Given the description of an element on the screen output the (x, y) to click on. 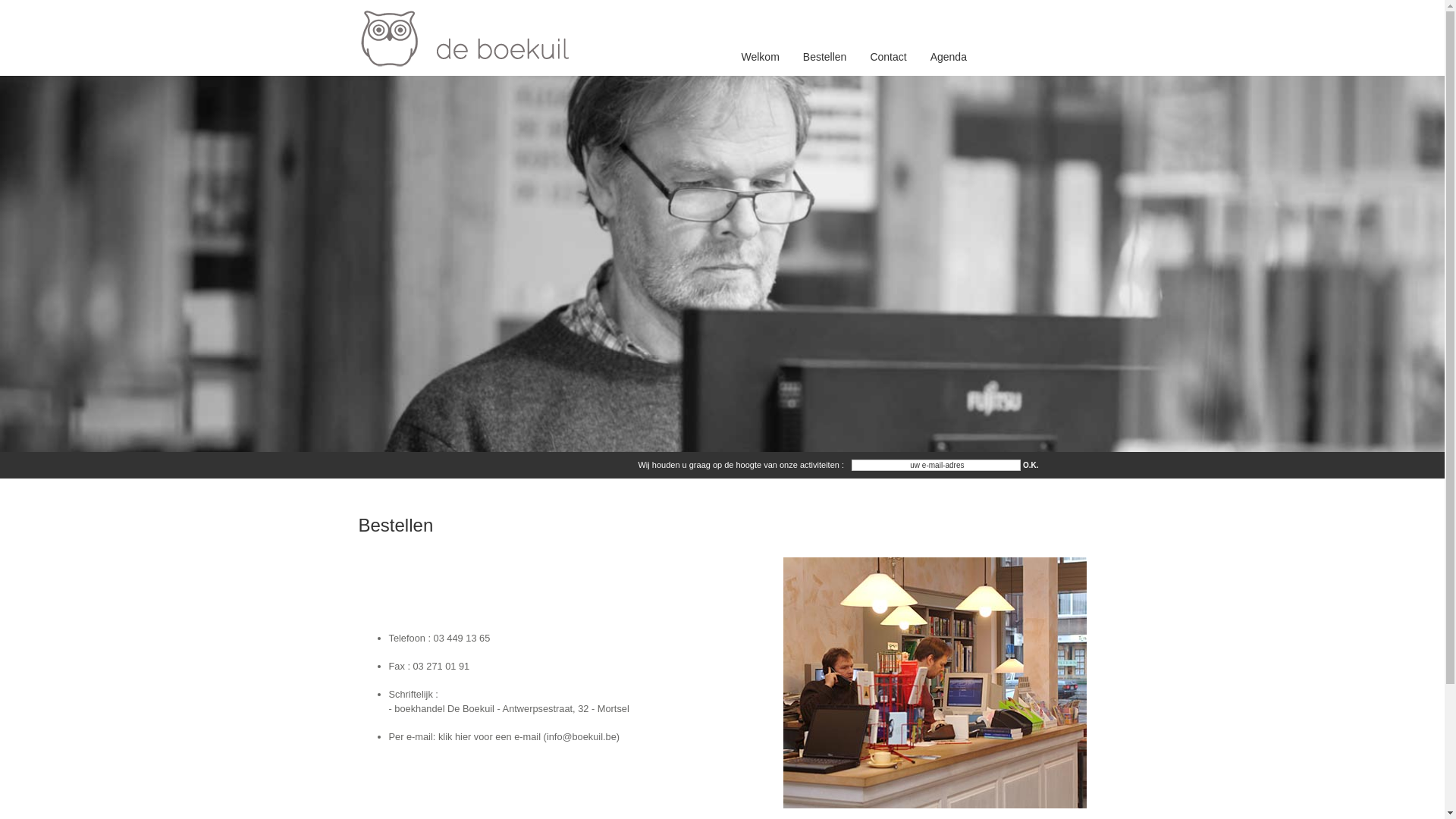
Welkom Element type: text (759, 57)
Agenda Element type: text (948, 57)
Contact Element type: text (888, 57)
info@boekuil.be Element type: text (581, 736)
Bestellen Element type: text (824, 57)
003 Element type: hover (722, 263)
